Given the description of an element on the screen output the (x, y) to click on. 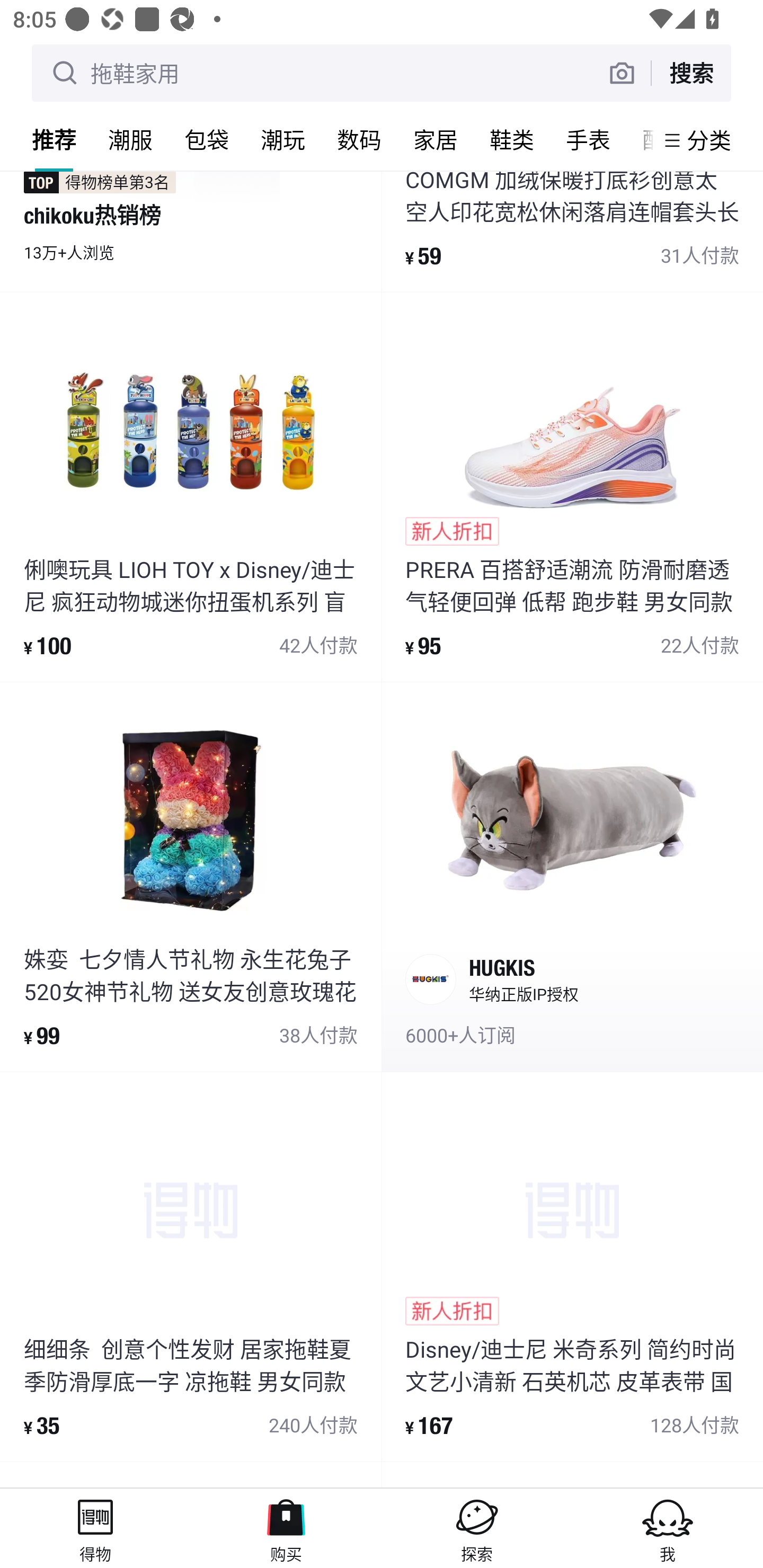
搜索 (690, 72)
推荐 (54, 139)
潮服 (130, 139)
包袋 (206, 139)
潮玩 (282, 139)
数码 (359, 139)
家居 (435, 139)
鞋类 (511, 139)
手表 (588, 139)
分类 (708, 139)
得物榜单第3名 chikoku热销榜 13万+人浏览 (190, 230)
HUGKIS 华纳正版IP授权 6000+人订阅 (572, 876)
得物 (95, 1528)
购买 (285, 1528)
探索 (476, 1528)
我 (667, 1528)
